Given the description of an element on the screen output the (x, y) to click on. 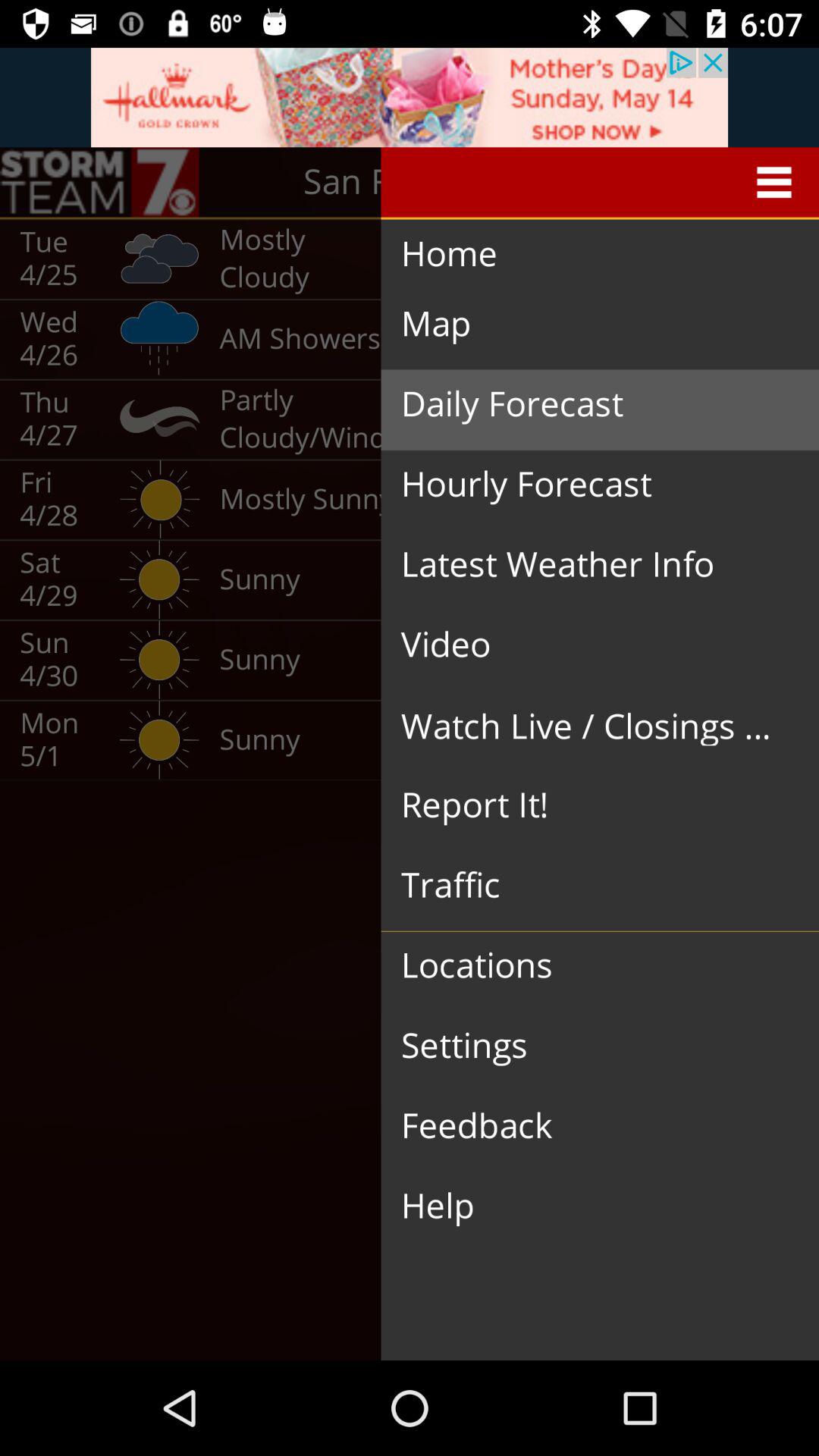
press the icon next to the mostly cloudy (584, 254)
